Given the description of an element on the screen output the (x, y) to click on. 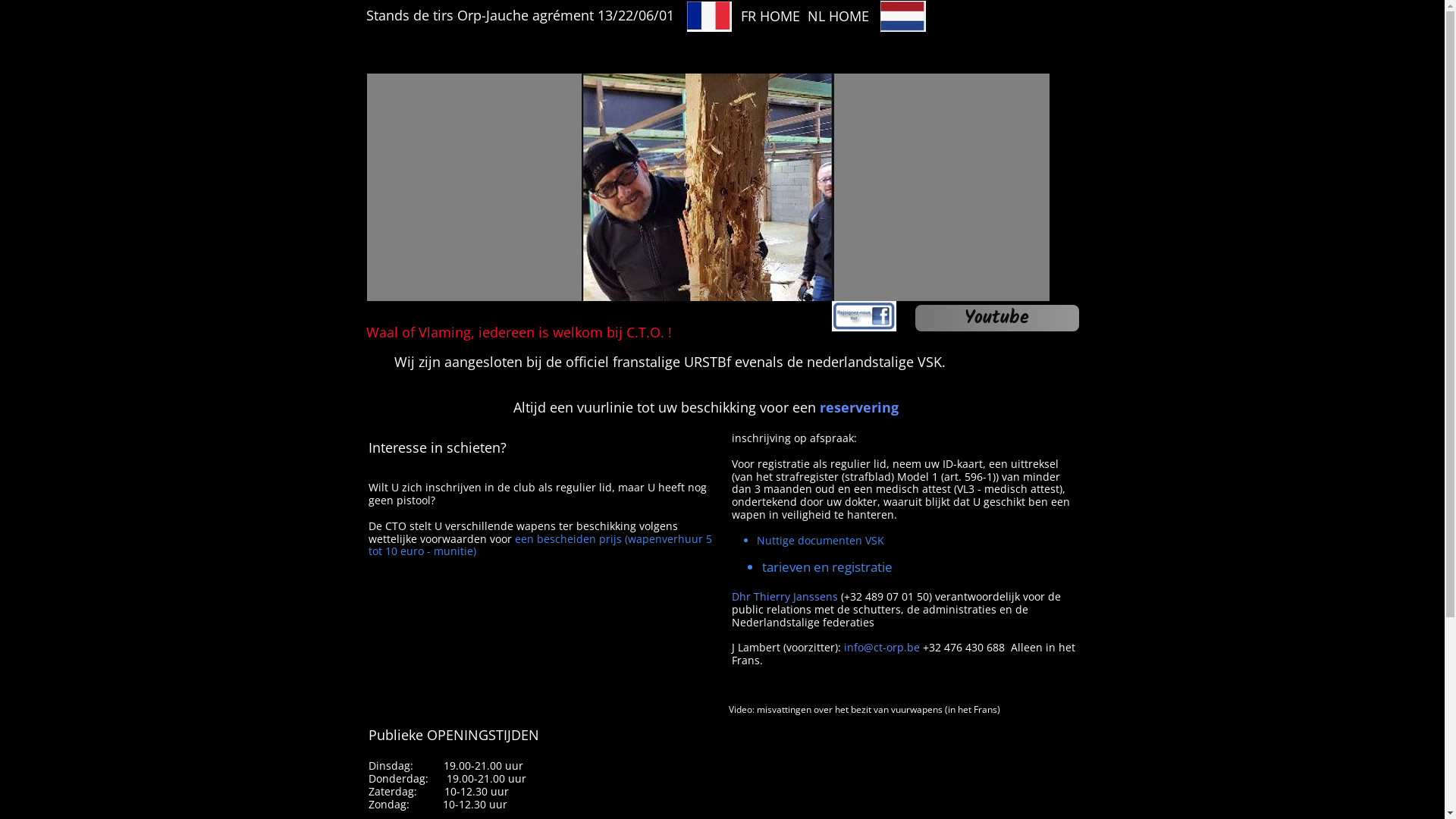
tarieven en registratie Element type: text (827, 566)
Dhr Thierry Janssens  Element type: text (785, 596)
cto-014 Element type: hover (708, 187)
een bescheiden prijs (wapenverhuur 5 tot 10 euro - munitie) Element type: text (540, 544)
reservering Element type: text (858, 407)
Nuttige documenten VSK Element type: text (820, 540)
info@ct-orp.be  Element type: text (882, 647)
FR HOME Element type: text (765, 15)
VL3 - medisch attest Element type: text (1008, 488)
NL HOME Element type: text (833, 15)
Youtube Element type: text (996, 317)
